Given the description of an element on the screen output the (x, y) to click on. 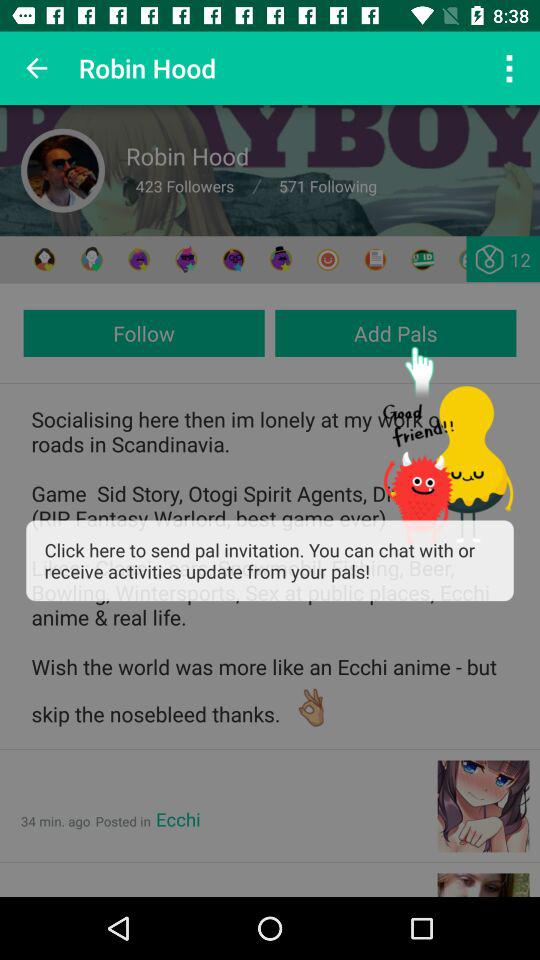
select icon (138, 259)
